Given the description of an element on the screen output the (x, y) to click on. 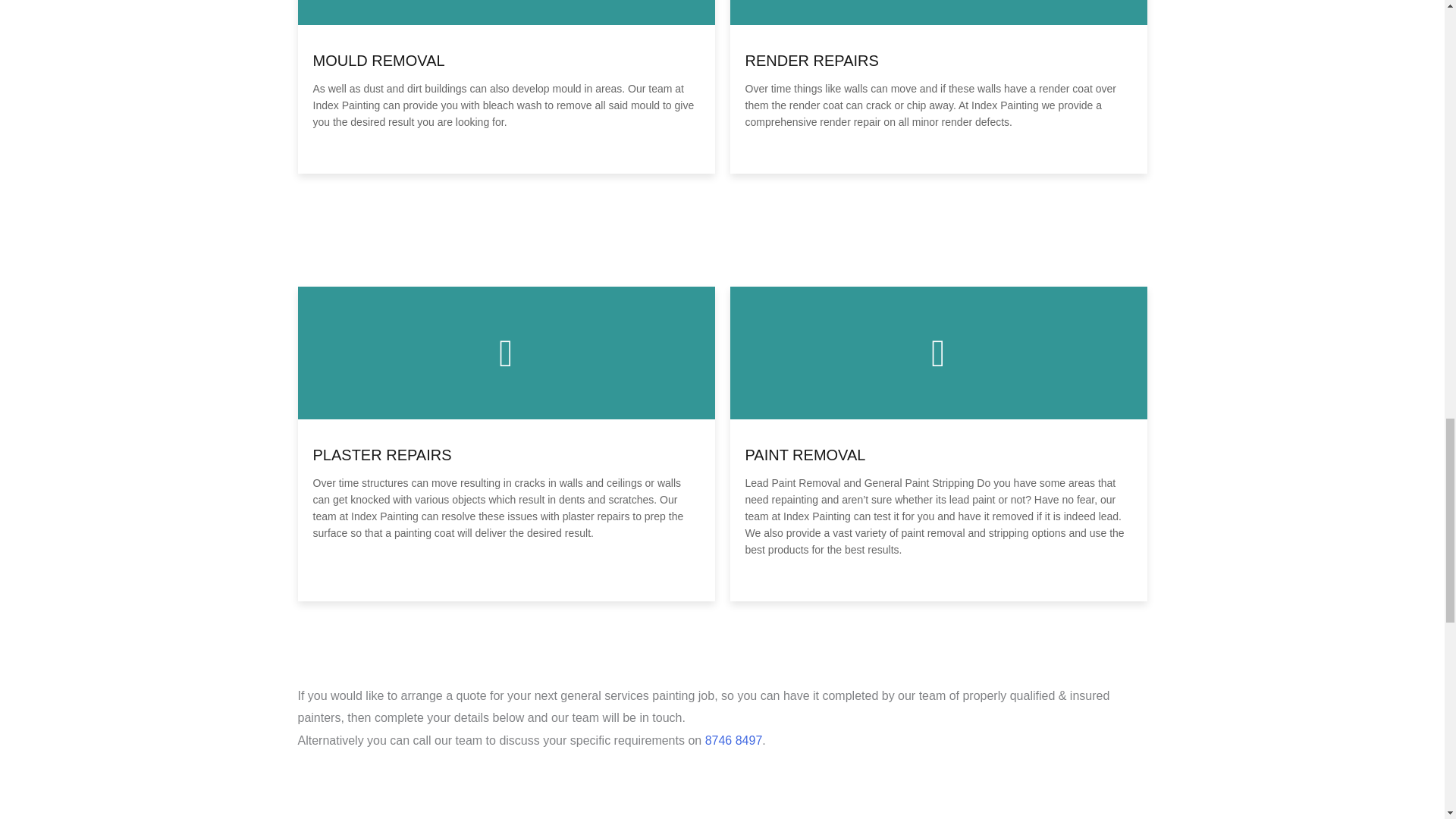
8746 8497 (733, 739)
